Given the description of an element on the screen output the (x, y) to click on. 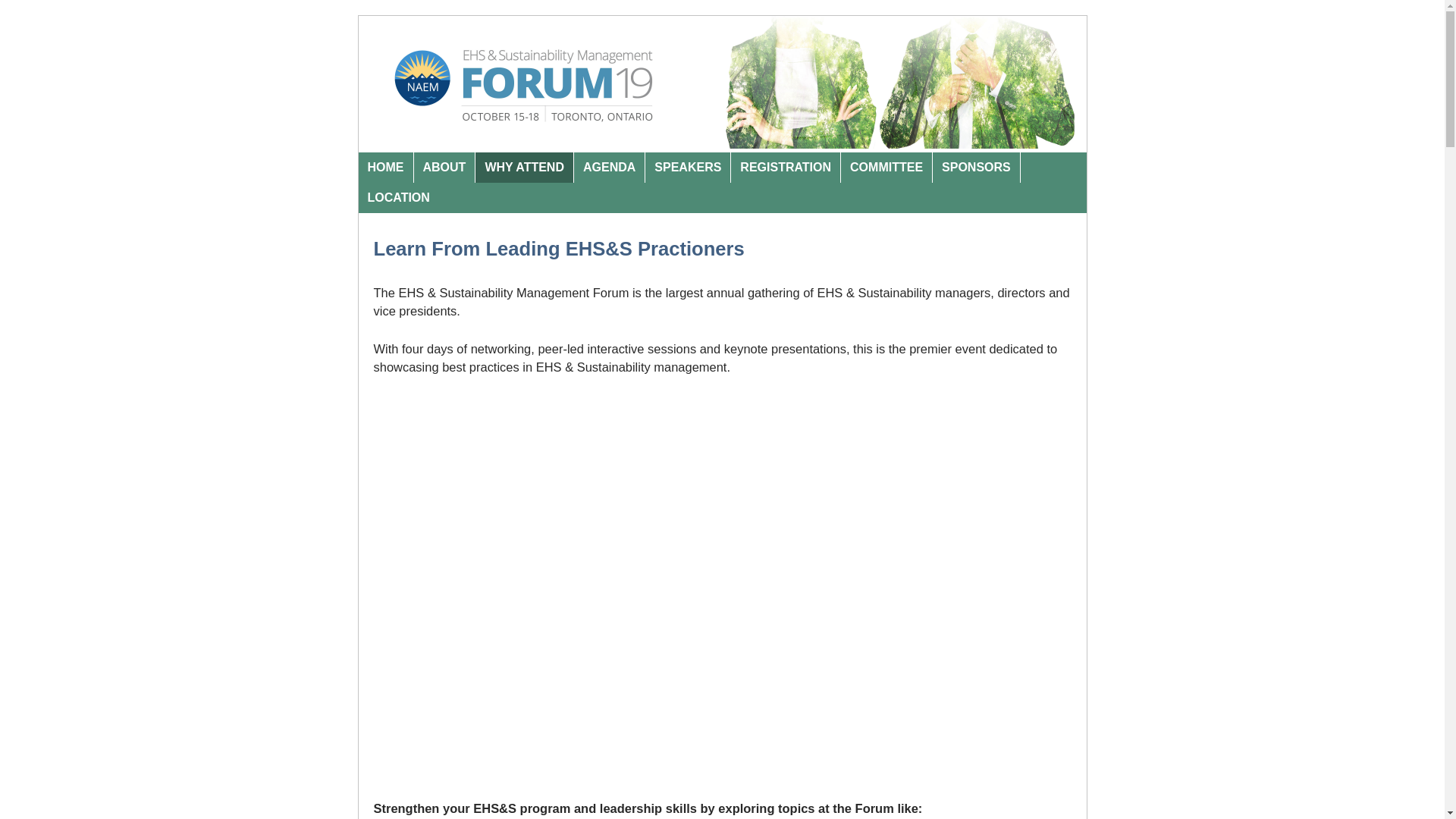
SPONSORS (976, 167)
REGISTRATION (785, 167)
SPEAKERS (687, 167)
WHY ATTEND (524, 167)
AGENDA (609, 167)
COMMITTEE (887, 167)
ABOUT (444, 167)
2019 NAEM EHS and Sustainability Management Forum (722, 81)
LOCATION (398, 197)
2019 NAEM EHS and Sustainability Management Forum (722, 144)
HOME (385, 167)
